Given the description of an element on the screen output the (x, y) to click on. 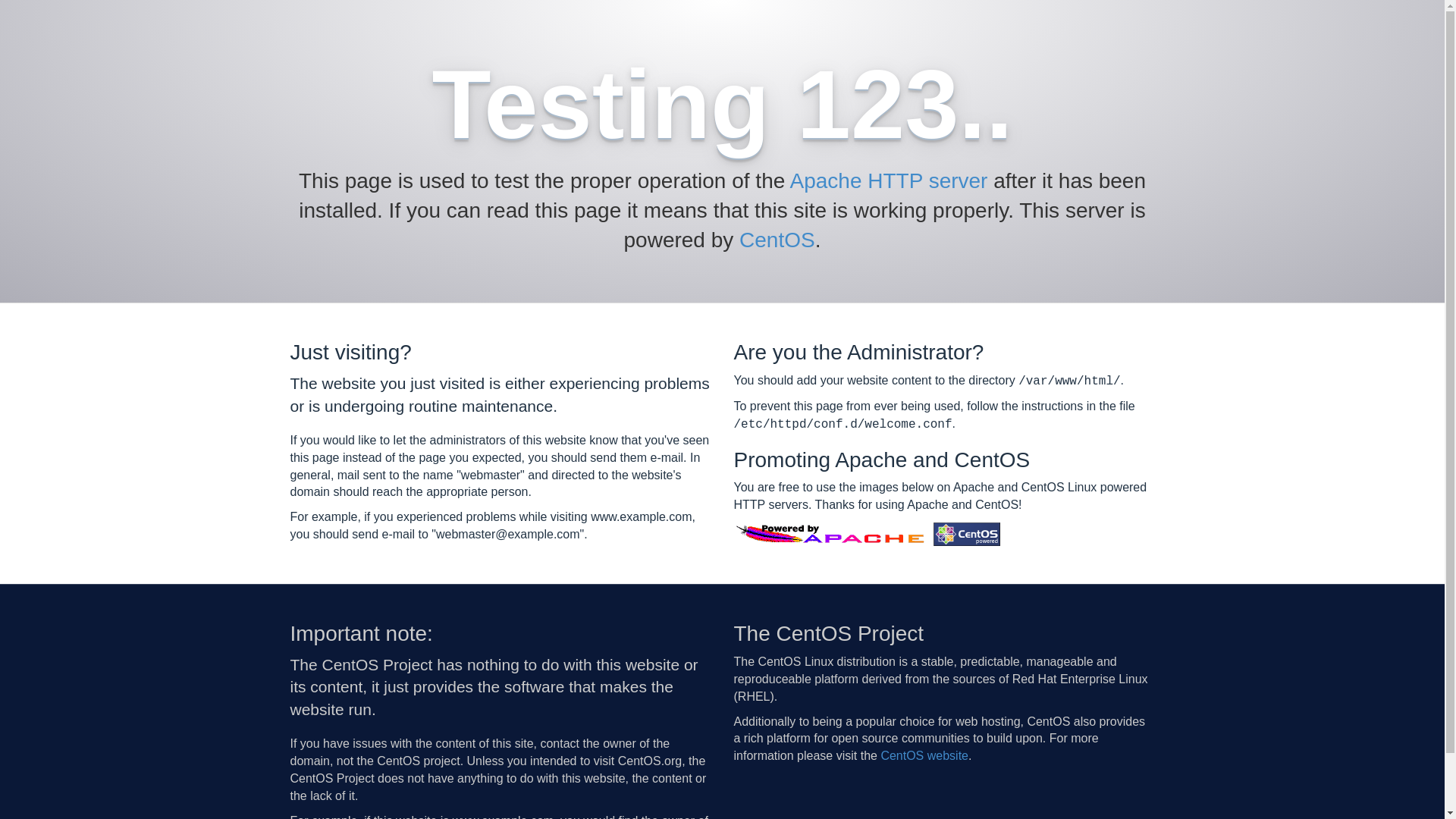
CentOS Element type: text (777, 239)
Apache HTTP server Element type: text (889, 180)
CentOS website Element type: text (924, 755)
